Given the description of an element on the screen output the (x, y) to click on. 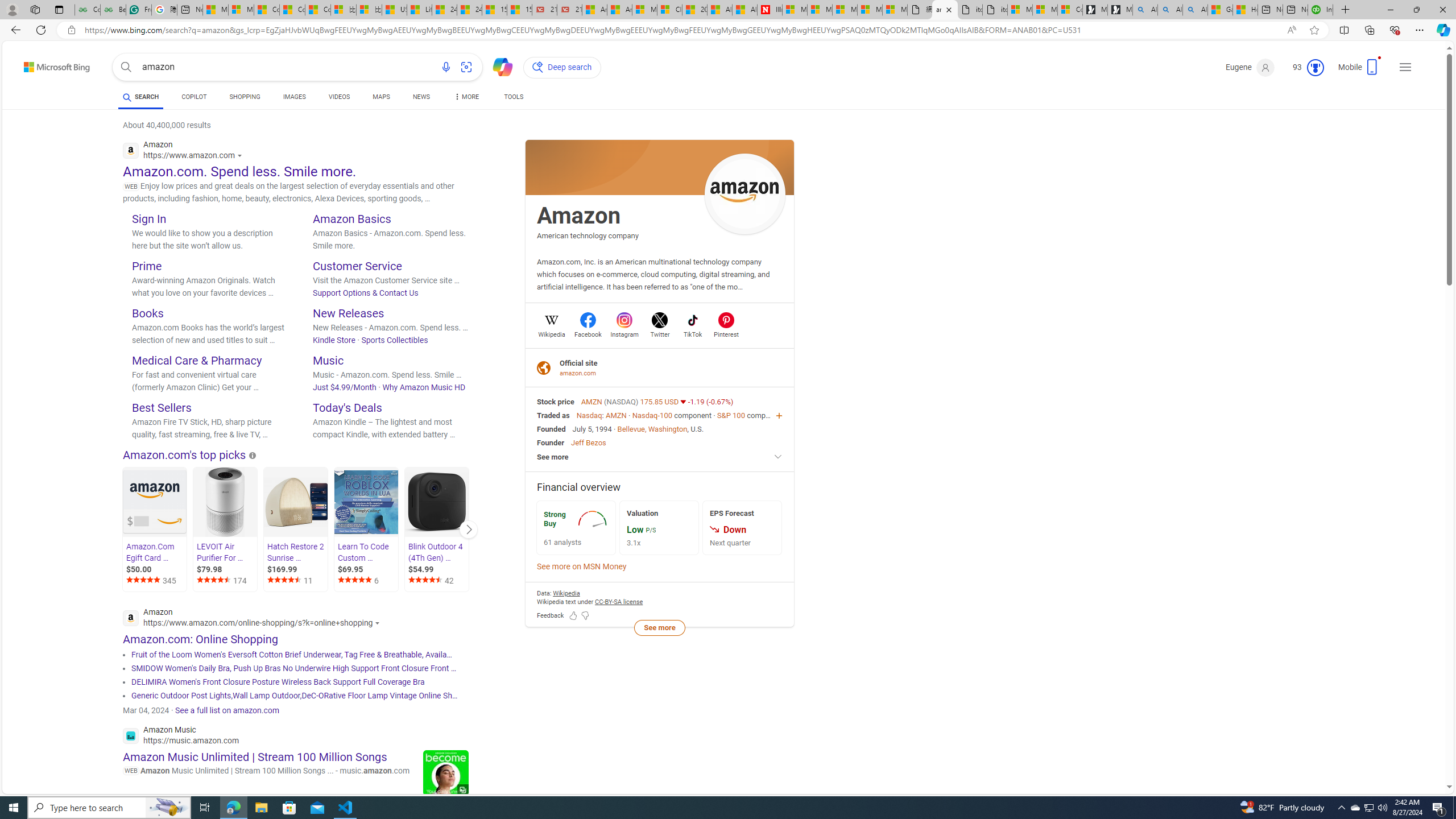
Strong Buy 61 analysts (576, 527)
Amazon.Com Egift Card (Instant Email Or Text Delivery) (154, 501)
Chat (497, 65)
CC-BY-SA license (619, 602)
Microsoft Services Agreement (819, 9)
20 Ways to Boost Your Protein Intake at Every Meal (694, 9)
42 (437, 580)
175.85 USD  (660, 401)
Official siteamazon.com (660, 367)
AutomationID: mfa_root (1406, 752)
Search using an image (465, 66)
NEWS (421, 96)
